Given the description of an element on the screen output the (x, y) to click on. 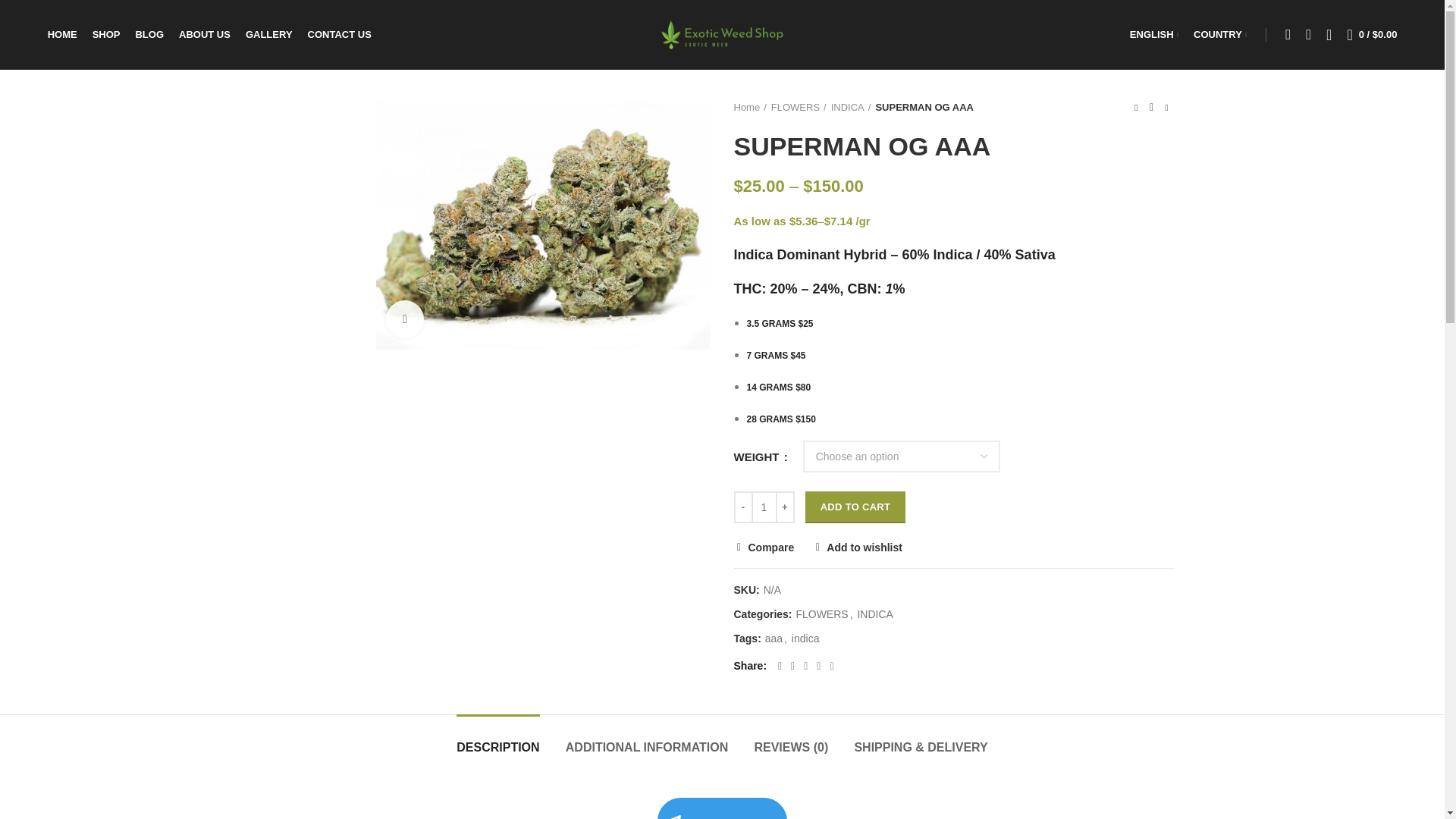
COUNTRY (1219, 34)
ENGLISH (1154, 34)
ADD TO CART (855, 507)
CONTACT US (338, 34)
Compare (763, 547)
Qty (763, 507)
INDICA (850, 107)
Home (750, 107)
My account (1288, 34)
1 (763, 507)
FLOWERS (820, 614)
SHOP (106, 34)
BLOG (149, 34)
ABOUT US (204, 34)
My Wishlist (1329, 34)
